Given the description of an element on the screen output the (x, y) to click on. 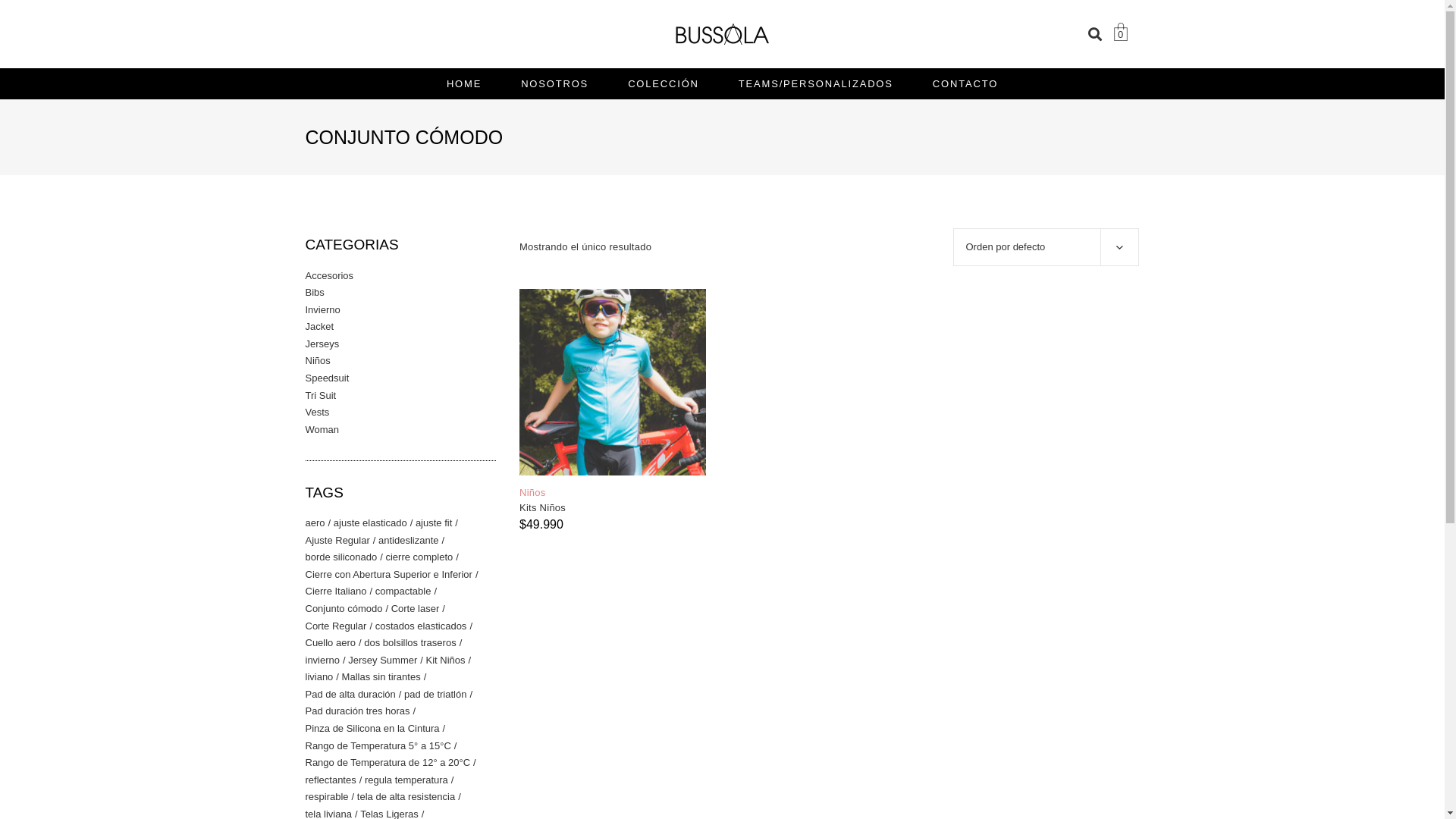
Bibs Element type: text (313, 292)
antideslizante Element type: text (411, 540)
CONTACTO Element type: text (965, 83)
Vests Element type: text (316, 411)
Invierno Element type: text (321, 309)
Ajuste Regular Element type: text (339, 540)
tela de alta resistencia Element type: text (409, 796)
SELECCIONAR OPCIONES Element type: text (504, 461)
respirable Element type: text (329, 796)
ajuste elasticado Element type: text (372, 522)
Mallas sin tirantes Element type: text (384, 676)
Pinza de Silicona en la Cintura Element type: text (374, 728)
Tri Suit Element type: text (319, 395)
reflectantes Element type: text (332, 779)
HOME Element type: text (463, 83)
NOSOTROS Element type: text (554, 83)
TEAMS/PERSONALIZADOS Element type: text (815, 83)
Cuello aero Element type: text (332, 642)
Jerseys Element type: text (321, 343)
Corte laser Element type: text (418, 608)
Speedsuit Element type: text (326, 377)
Cierre con Abertura Superior e Inferior Element type: text (390, 574)
invierno Element type: text (324, 660)
Cierre Italiano Element type: text (338, 591)
costados elasticados Element type: text (423, 626)
ajuste fit Element type: text (436, 522)
Jersey Summer Element type: text (385, 660)
liviano Element type: text (321, 676)
compactable Element type: text (405, 591)
0 Element type: text (1120, 33)
Woman Element type: text (321, 429)
borde siliconado Element type: text (343, 557)
aero Element type: text (317, 522)
Corte Regular Element type: text (338, 626)
Accesorios Element type: text (328, 275)
cierre completo Element type: text (421, 557)
regula temperatura Element type: text (408, 779)
Jacket Element type: text (318, 326)
dos bolsillos traseros Element type: text (412, 642)
